Given the description of an element on the screen output the (x, y) to click on. 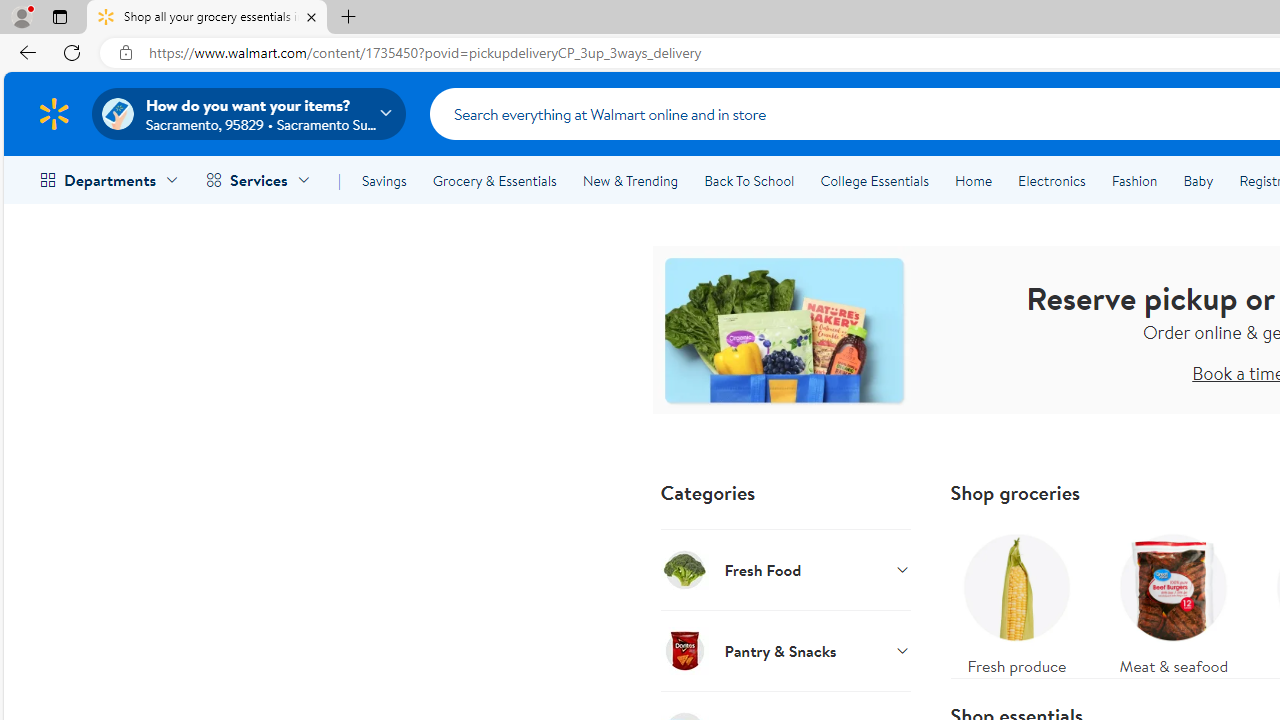
Walmart Homepage (53, 113)
Savings (384, 180)
New & Trending (630, 180)
Meat & seafood (1173, 599)
Grocery & Essentials (493, 180)
